Given the description of an element on the screen output the (x, y) to click on. 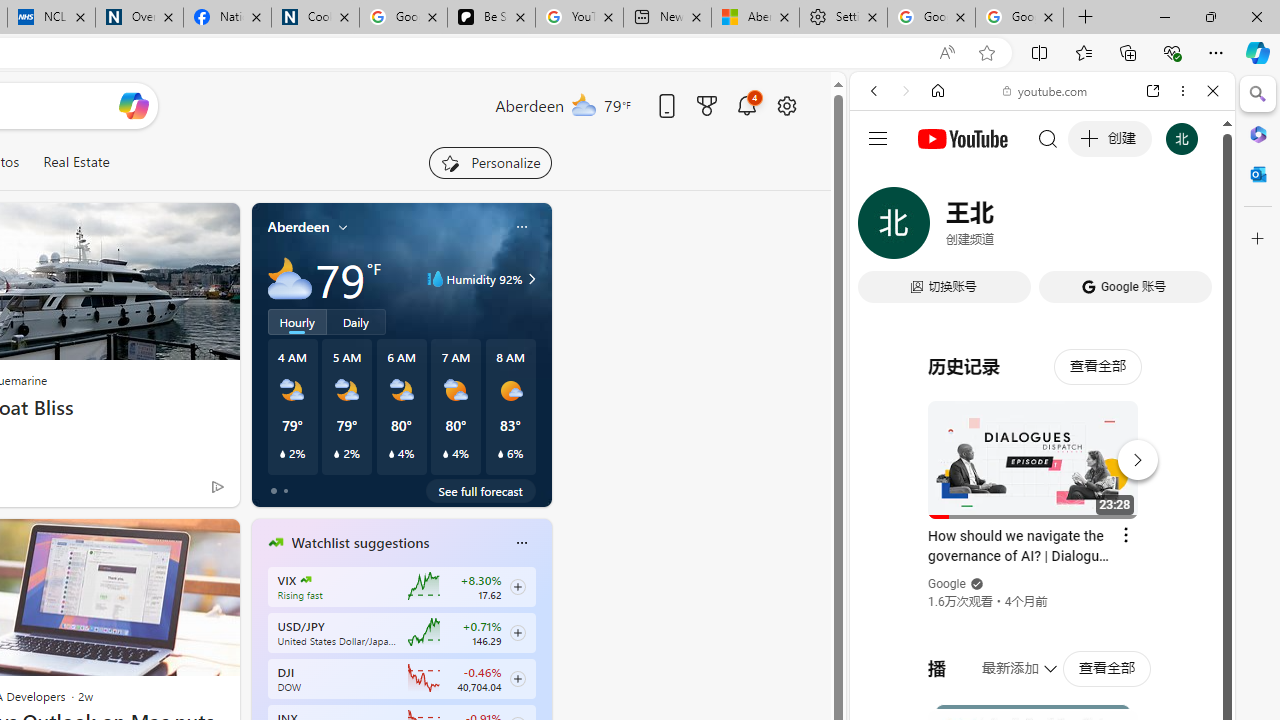
Search Filter, WEB (882, 228)
Web scope (882, 180)
Open settings (786, 105)
SEARCH TOOLS (1093, 228)
More options (1182, 91)
Daily (356, 321)
See full forecast (480, 490)
Real Estate (75, 162)
WEB   (882, 228)
